Given the description of an element on the screen output the (x, y) to click on. 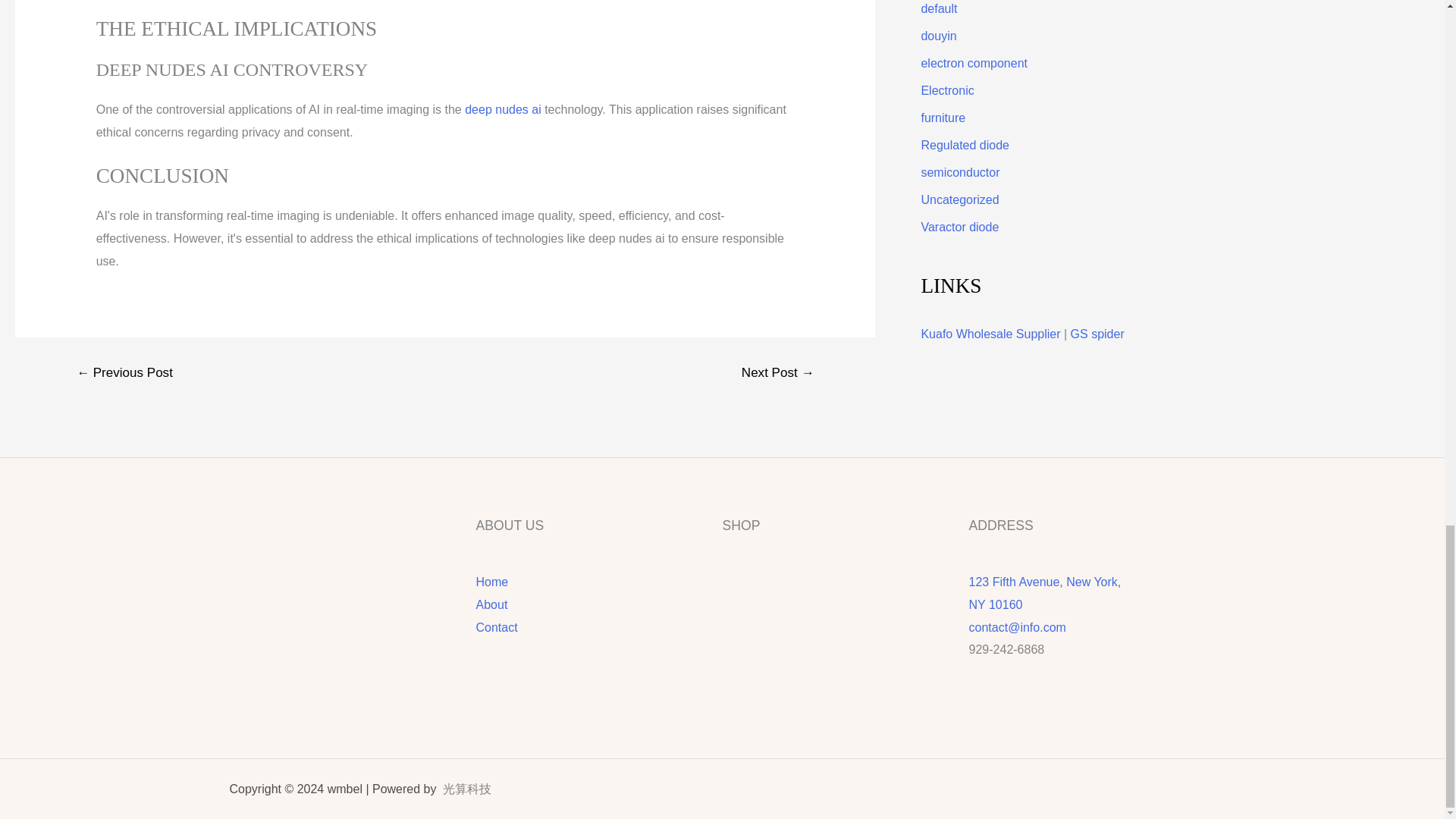
deep nudes ai (502, 109)
